Given the description of an element on the screen output the (x, y) to click on. 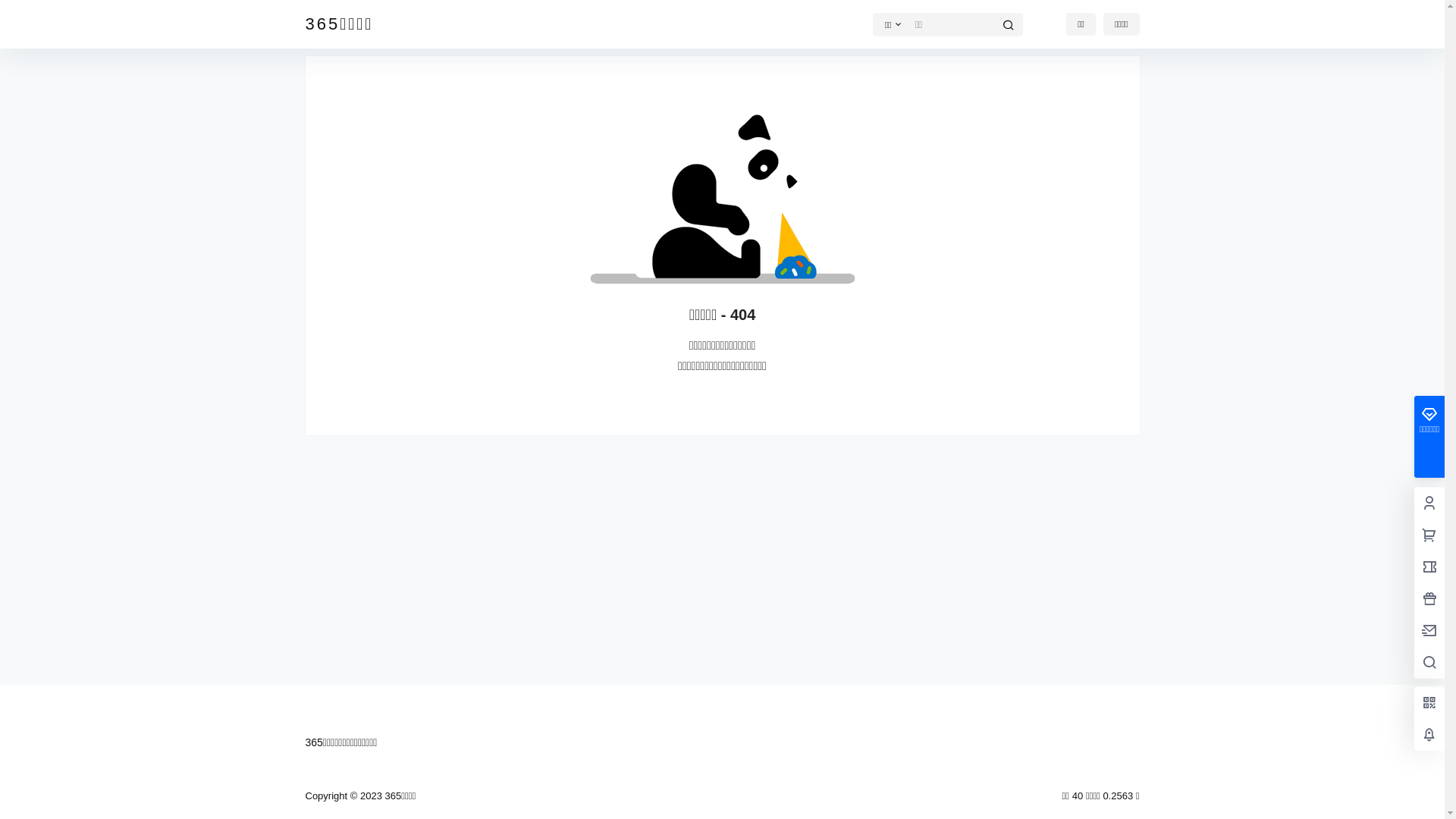
ok Element type: text (10, 10)
